Given the description of an element on the screen output the (x, y) to click on. 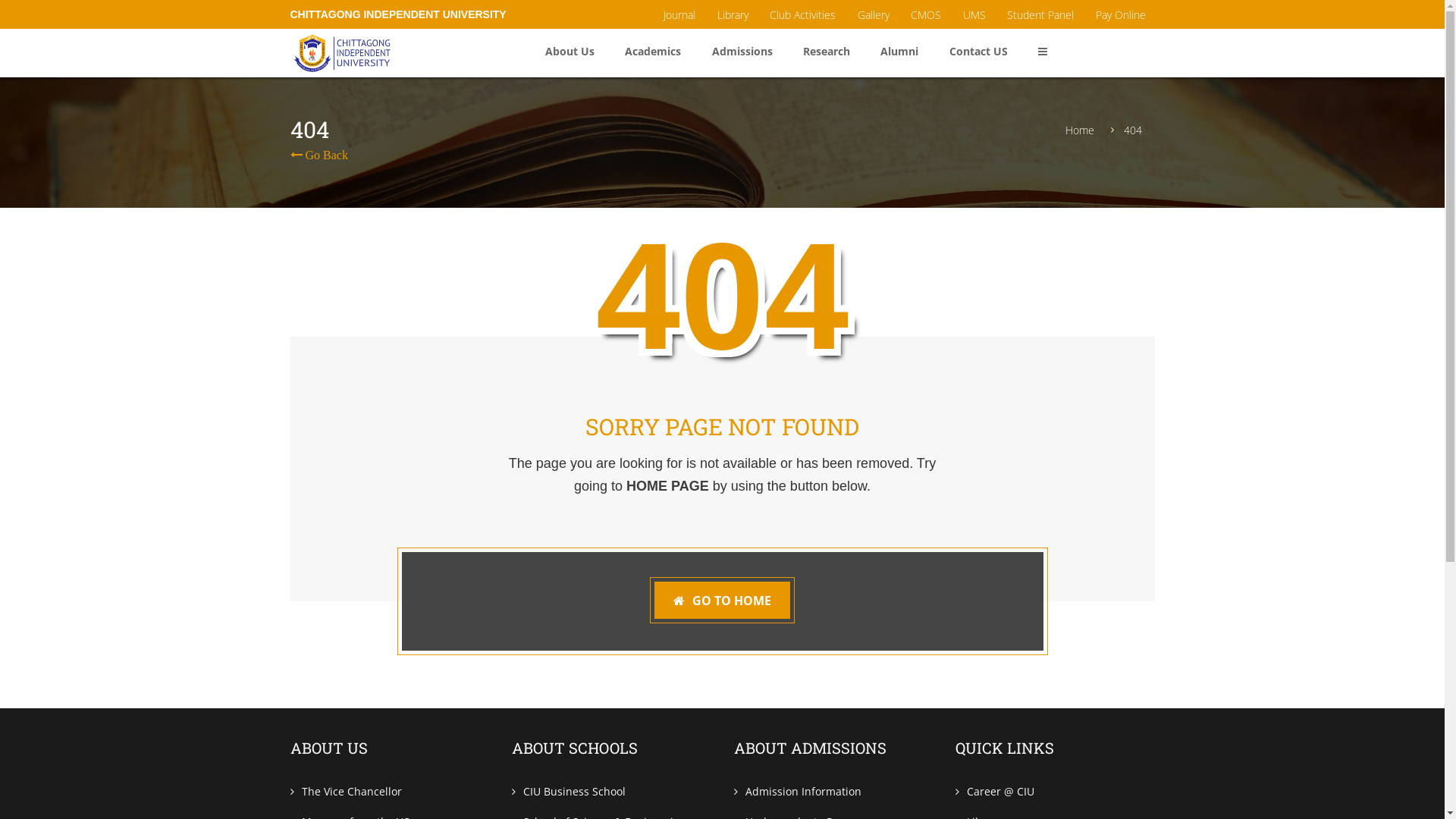
Alumni Element type: text (898, 51)
Student Panel Element type: text (1039, 14)
Home Element type: text (1079, 130)
Pay Online Element type: text (1119, 14)
Admissions Element type: text (742, 51)
UMS Element type: text (973, 14)
Academics Element type: text (652, 51)
Contact US Element type: text (978, 51)
Research Element type: text (826, 51)
About Us Element type: text (569, 51)
Go Back Element type: text (318, 154)
Library Element type: text (732, 14)
Club Activities Element type: text (802, 14)
404 Element type: text (1131, 130)
Admission Information Element type: text (797, 791)
CMOS Element type: text (925, 14)
CIU Business School Element type: text (568, 791)
GO TO HOME Element type: text (721, 600)
Gallery Element type: text (873, 14)
Career @ CIU Element type: text (994, 791)
Journal Element type: text (679, 14)
The Vice Chancellor Element type: text (345, 791)
